Given the description of an element on the screen output the (x, y) to click on. 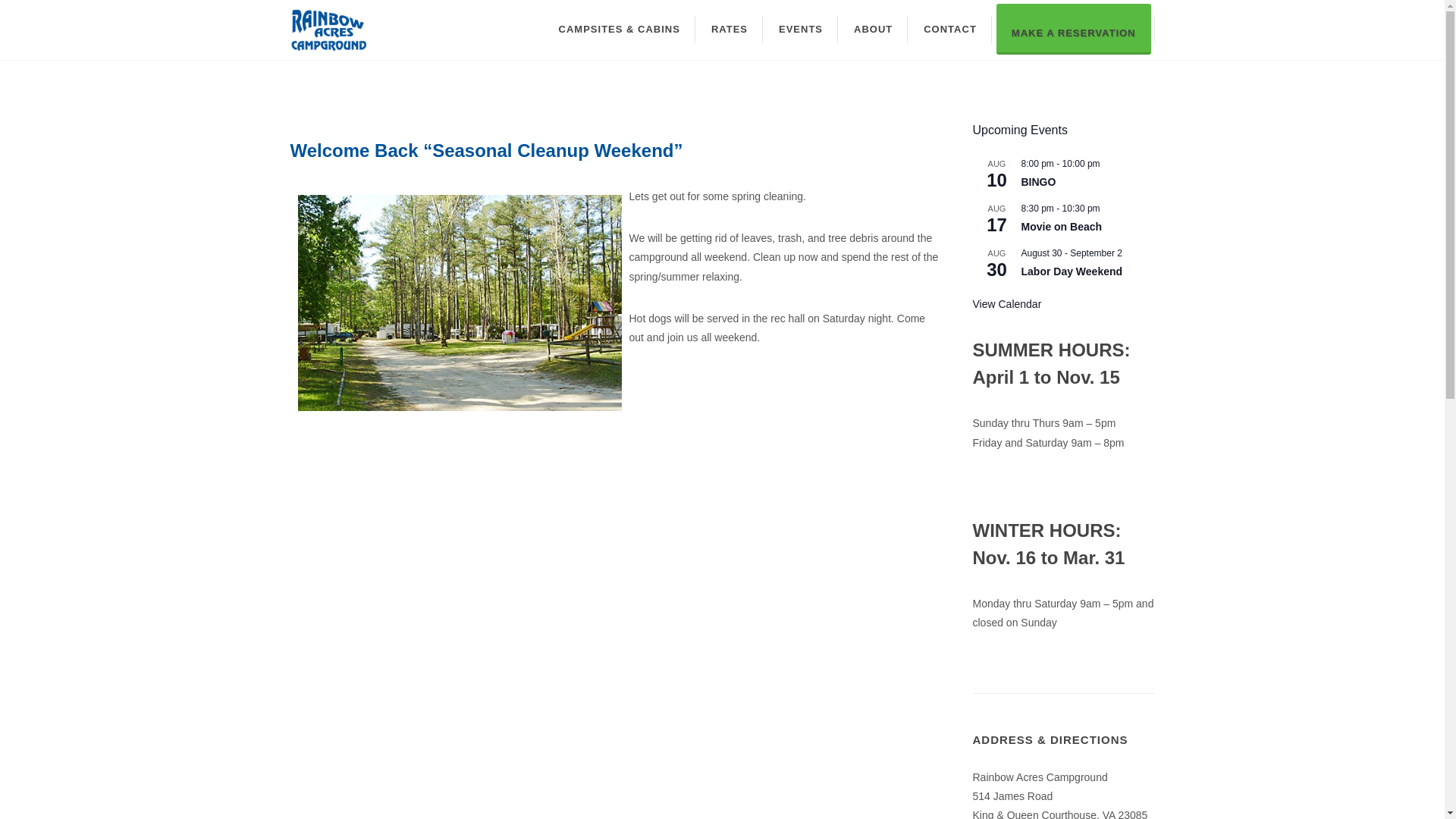
Movie on Beach (1061, 226)
CONTACT (949, 29)
View Calendar (1006, 304)
EVENTS (800, 29)
Labor Day Weekend (1071, 271)
View more events. (1006, 304)
BINGO (1037, 182)
Movie on Beach (1061, 226)
ABOUT (872, 29)
Labor Day Weekend (1071, 271)
BINGO (1037, 182)
MAKE A RESERVATION (1073, 29)
RATES (728, 29)
